Given the description of an element on the screen output the (x, y) to click on. 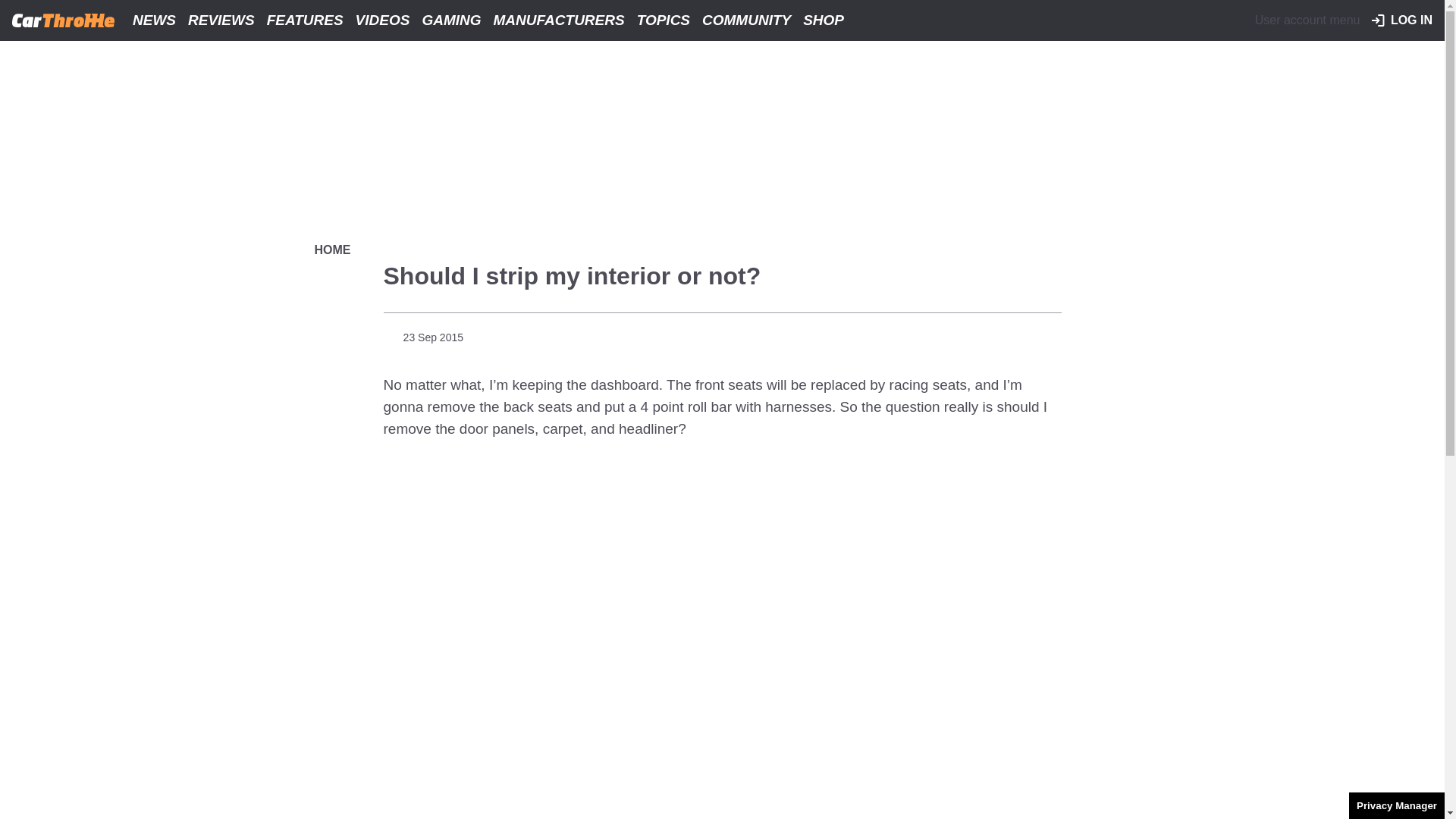
FEATURES (304, 20)
Share to Email (1047, 335)
Share to Facebook (965, 335)
LOG IN (1401, 20)
Share to WhatsApp (1020, 335)
GAMING (450, 20)
VIDEOS (382, 20)
MANUFACTURERS (558, 20)
NEWS (154, 20)
